Given the description of an element on the screen output the (x, y) to click on. 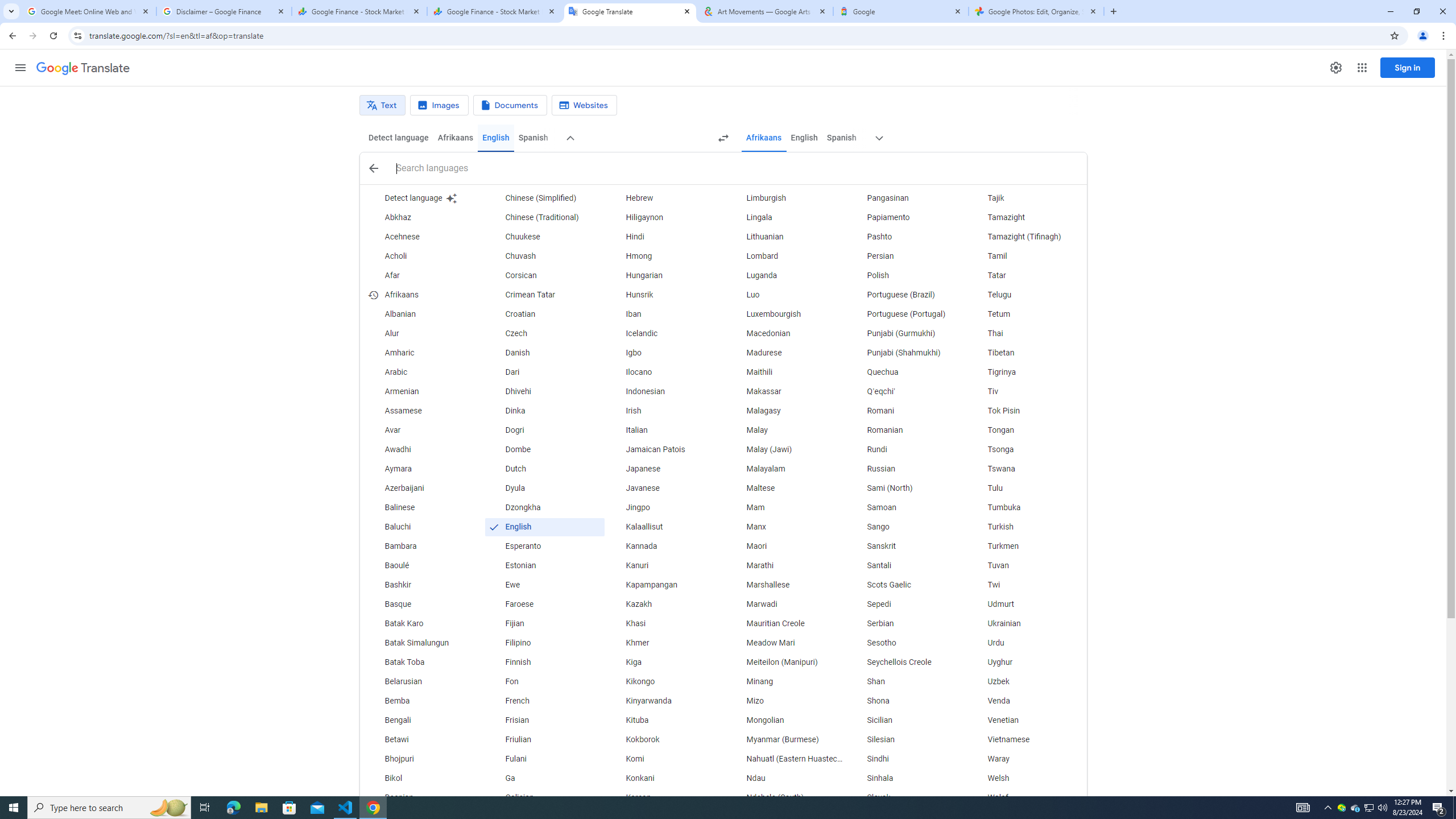
Close search (373, 167)
Quechua (905, 372)
Samoan (905, 507)
Lombard (785, 256)
Venda (1026, 701)
Finnish (544, 662)
Madurese (785, 352)
Polish (905, 275)
Aymara (423, 469)
Sami (North) (905, 488)
Kokborok (665, 739)
Batak Toba (423, 662)
